Given the description of an element on the screen output the (x, y) to click on. 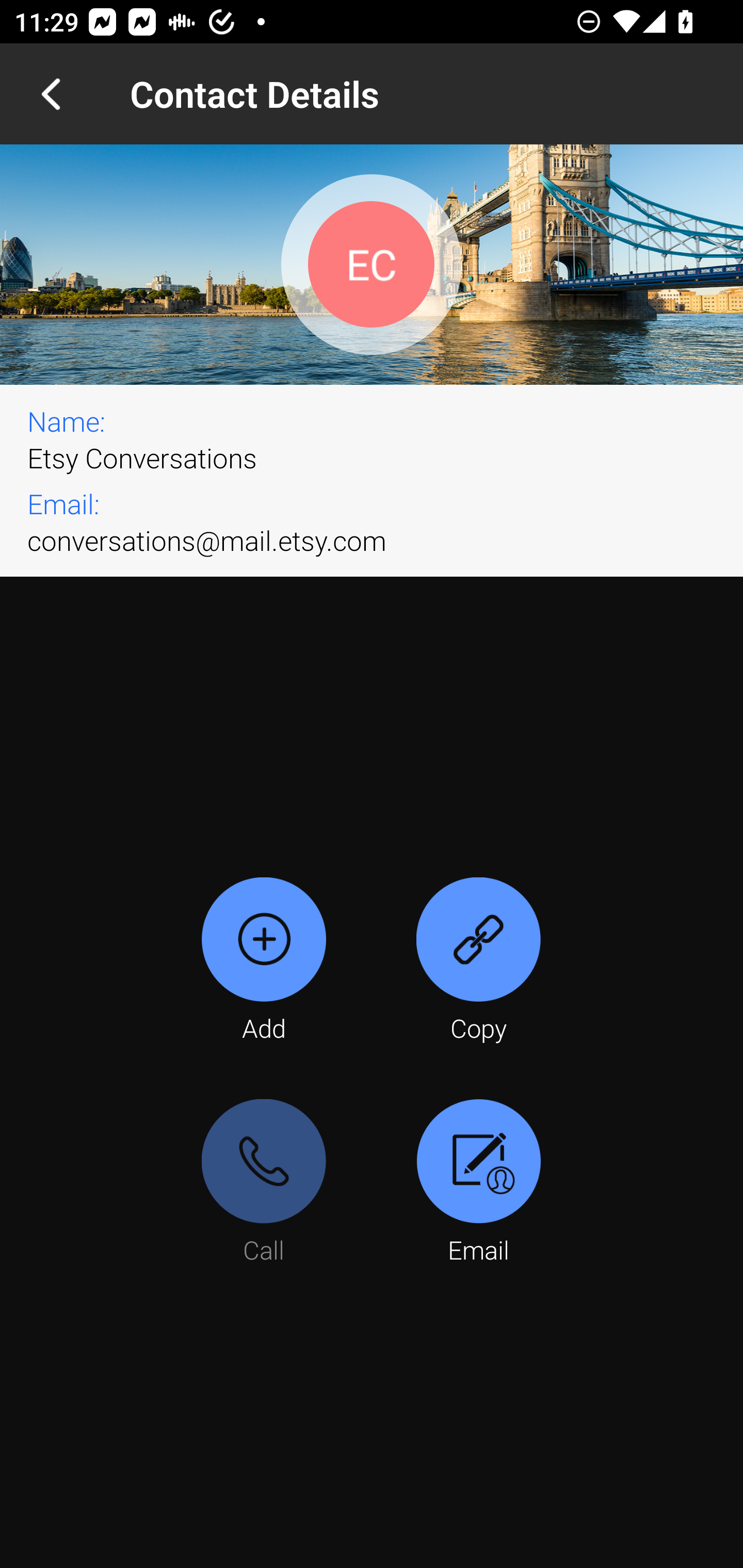
Navigate up (50, 93)
Add (264, 961)
Copy (478, 961)
Call (264, 1182)
Email (478, 1182)
